Given the description of an element on the screen output the (x, y) to click on. 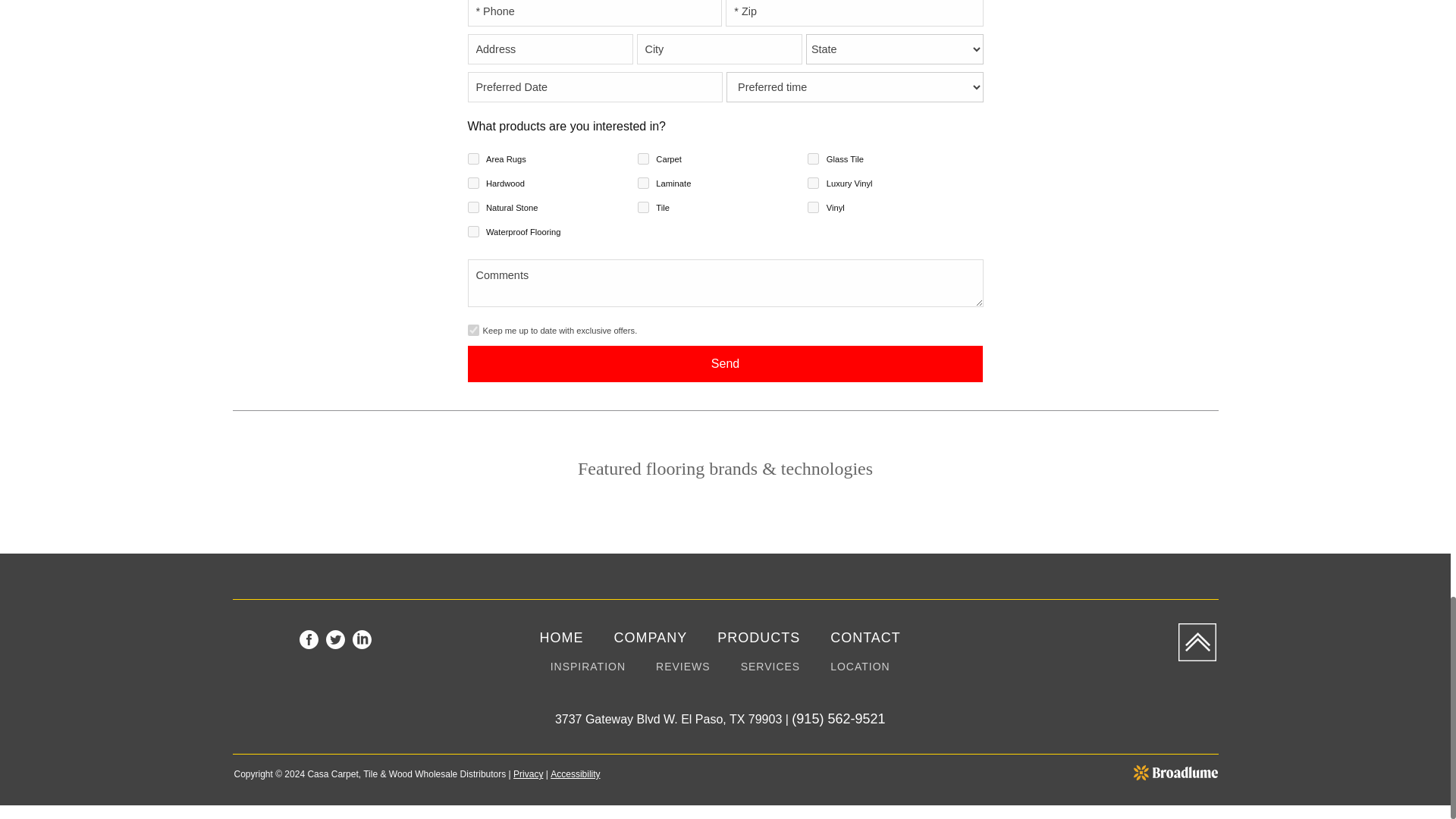
carpet (643, 158)
Facebook (308, 639)
Keep me up to date with exclusive offers. (473, 329)
Privacy policy (528, 774)
Twitter (335, 639)
Linkedin (361, 639)
laminate (643, 183)
tile (643, 206)
vinyl (813, 206)
Send (724, 363)
hardwood (473, 183)
